Given the description of an element on the screen output the (x, y) to click on. 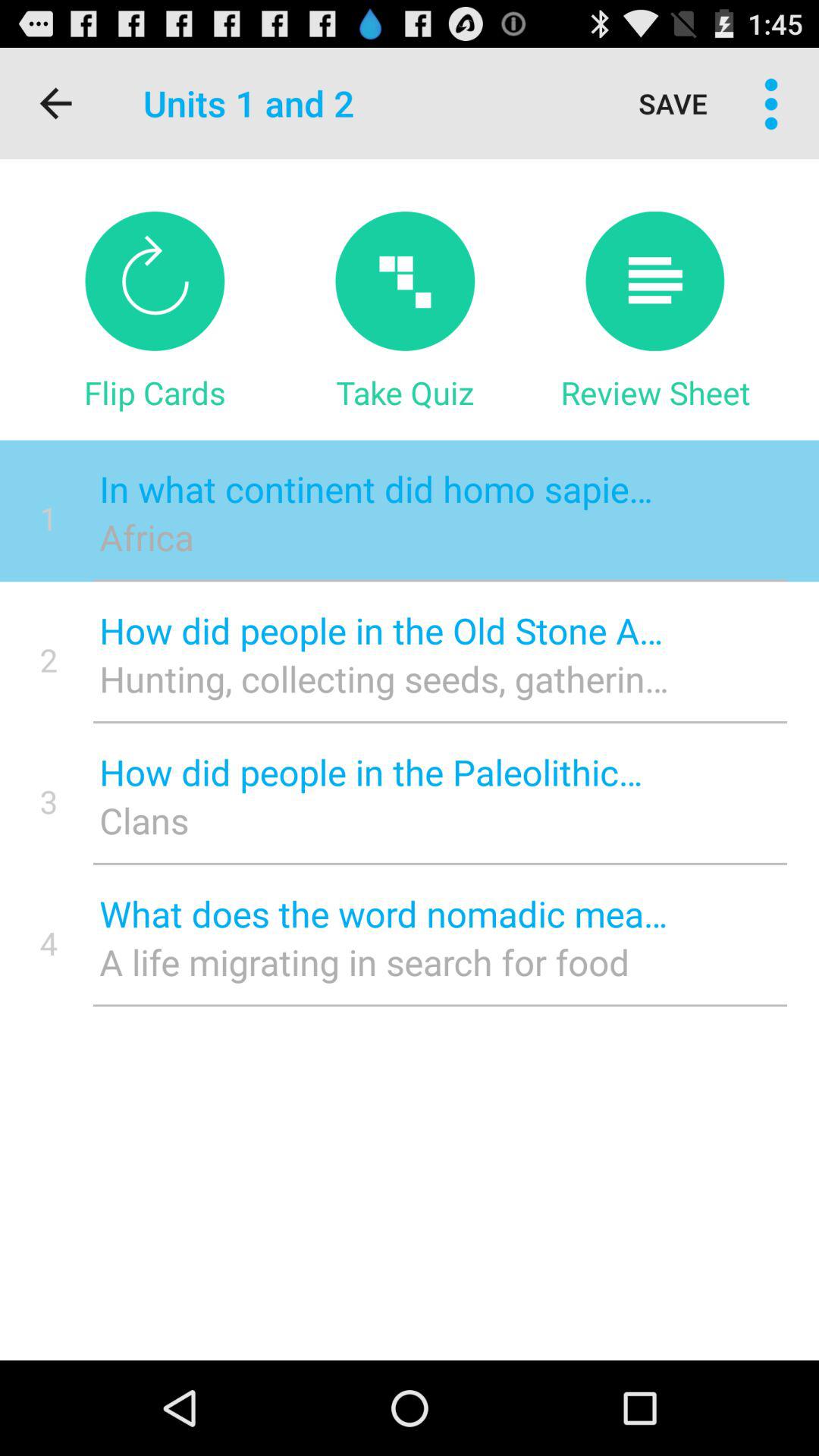
turn off the item above the a life migrating item (384, 913)
